Given the description of an element on the screen output the (x, y) to click on. 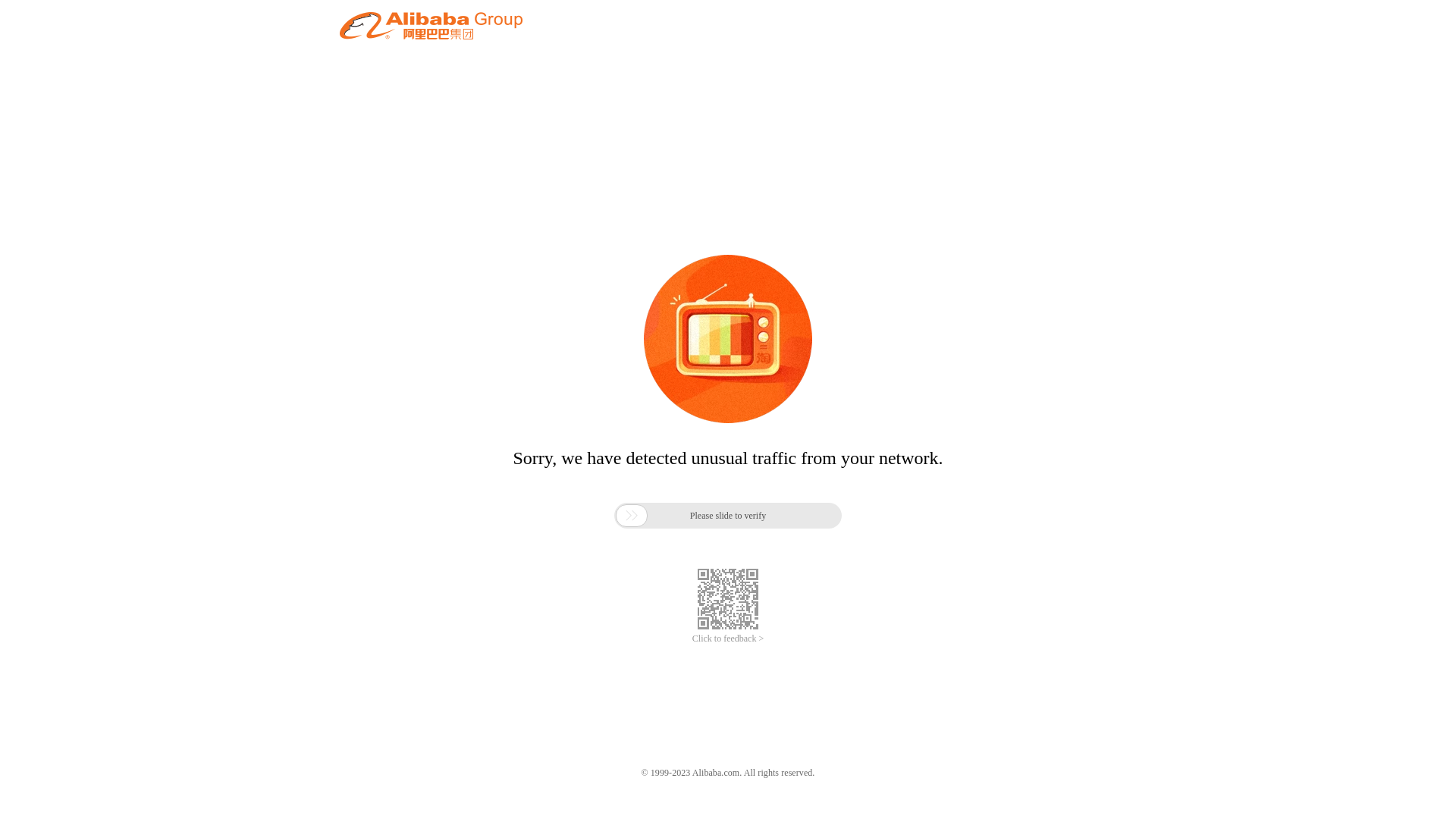
Click to feedback > Element type: text (727, 638)
